Given the description of an element on the screen output the (x, y) to click on. 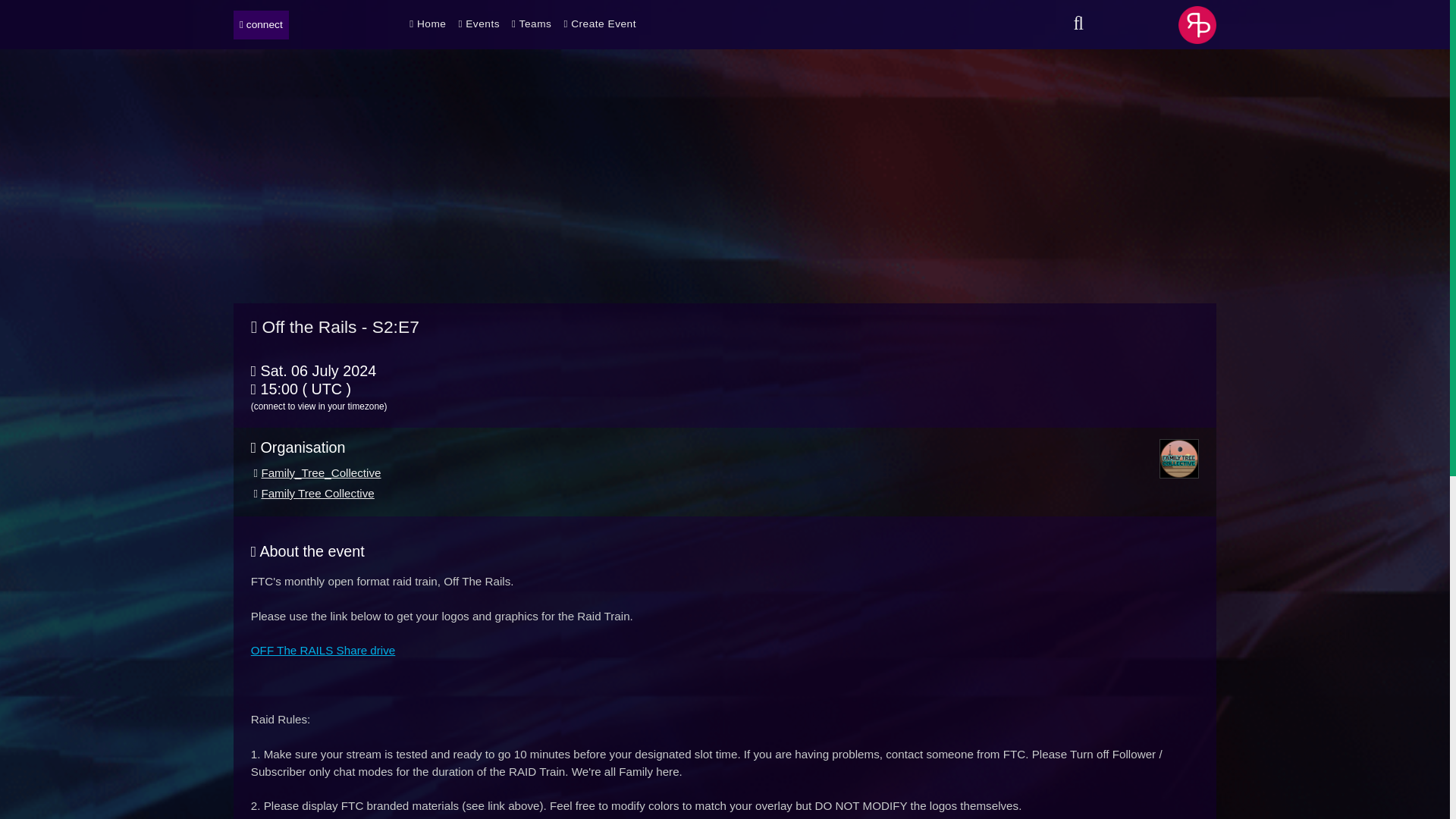
Events (478, 24)
Create Event (599, 24)
Home (427, 24)
OFF The RAILS Share drive (322, 649)
OFF The RAILS Share drive (322, 649)
Teams (531, 24)
 connect (260, 24)
Family Tree Collective (317, 492)
